Given the description of an element on the screen output the (x, y) to click on. 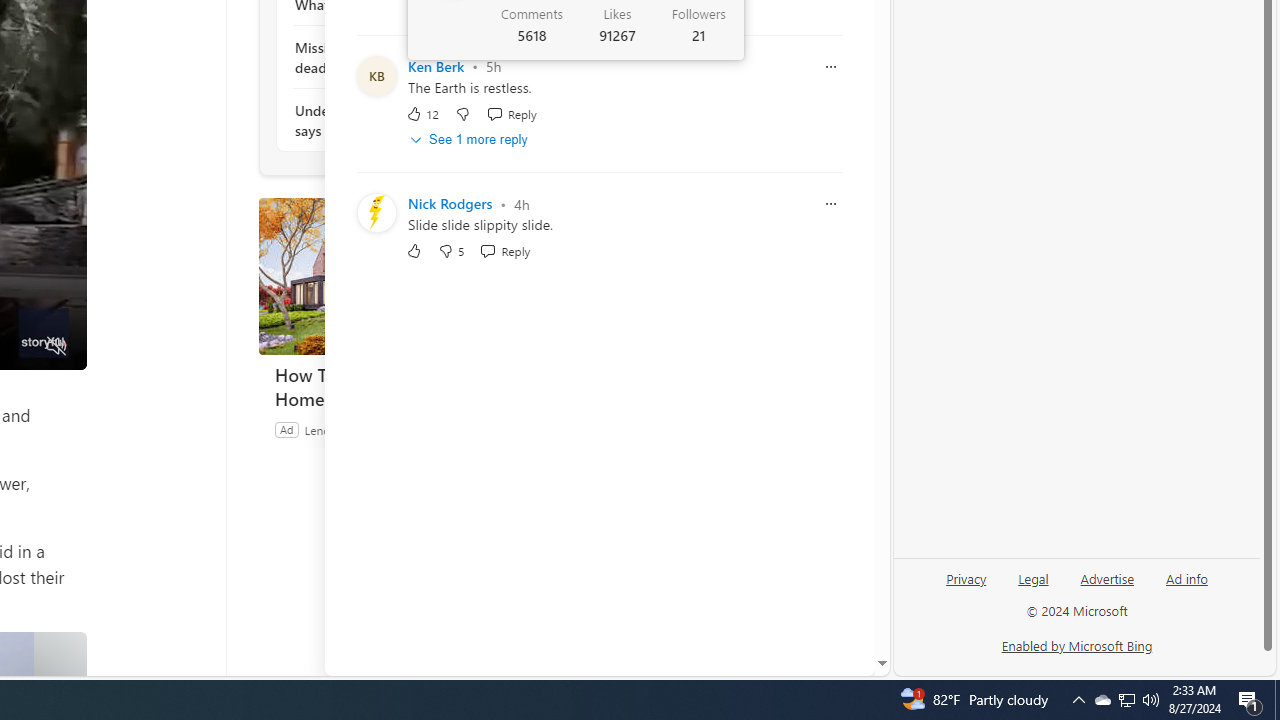
Ken Berk (436, 66)
12 Like (422, 112)
Report comment (831, 204)
See 1 more reply (470, 140)
Reply Reply Comment (505, 251)
Unmute (55, 347)
Like (414, 251)
